Given the description of an element on the screen output the (x, y) to click on. 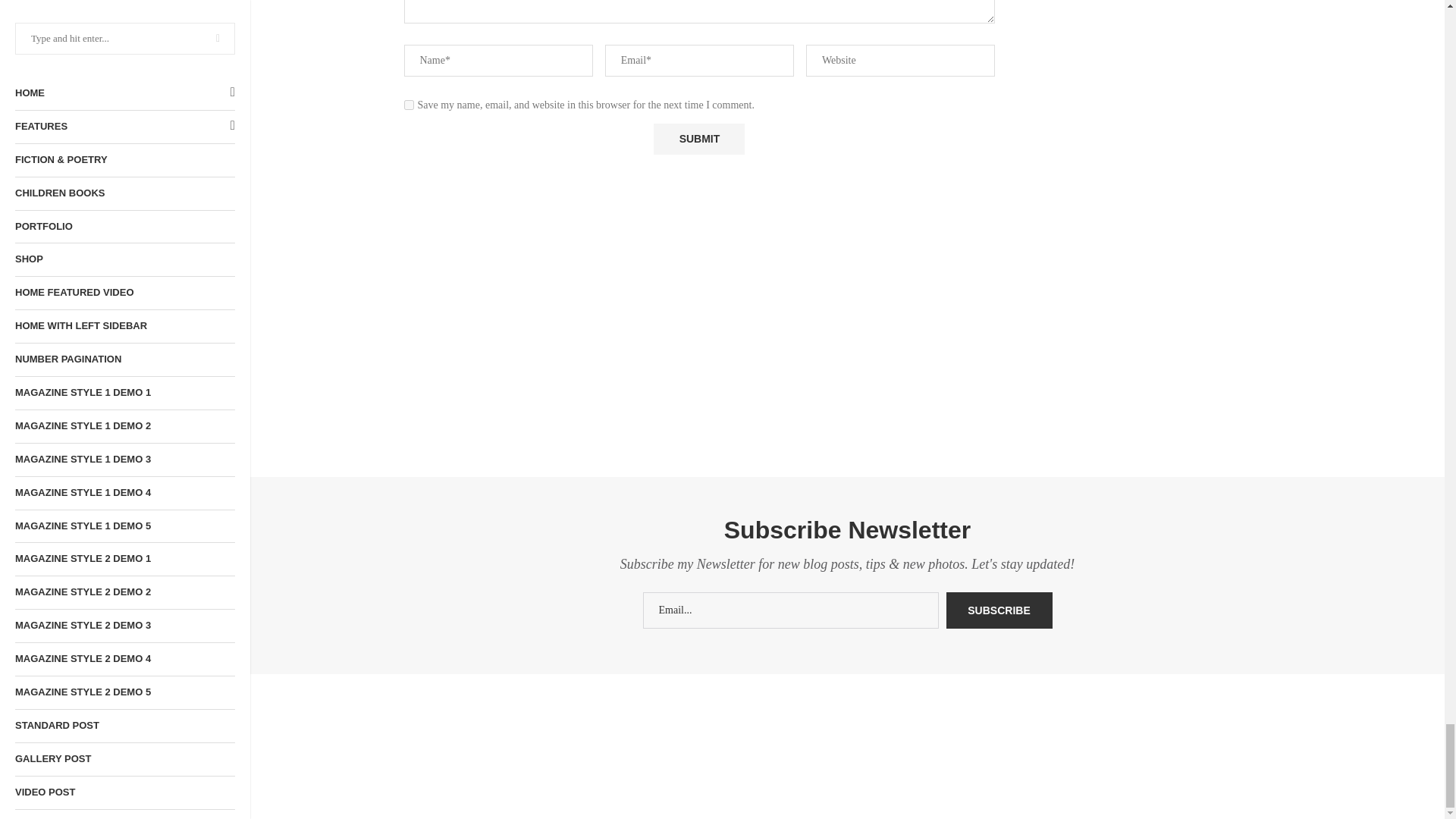
Subscribe (999, 610)
yes (408, 104)
Submit (698, 138)
